Given the description of an element on the screen output the (x, y) to click on. 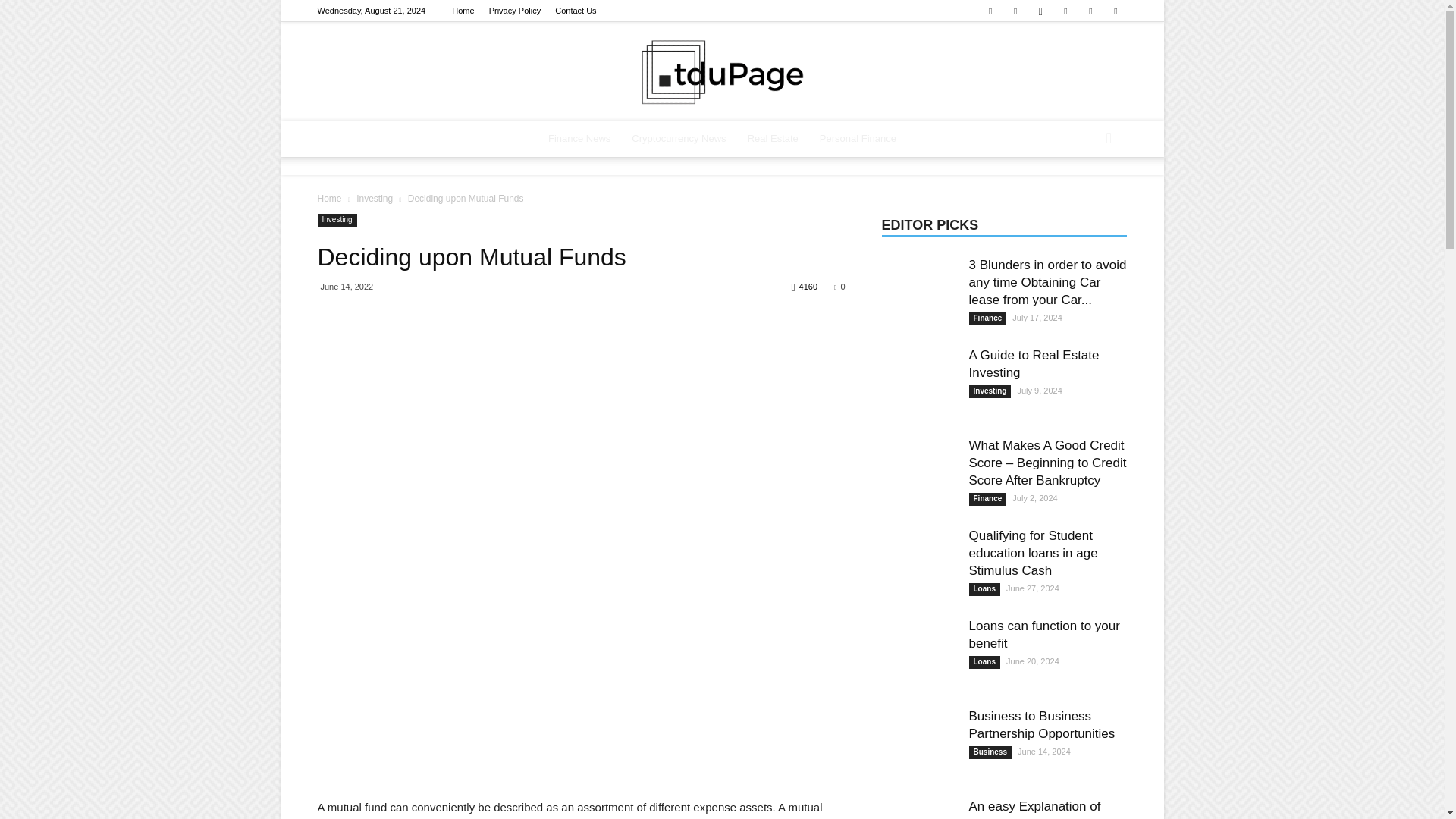
Home (462, 10)
tduPage.com (722, 71)
Real Estate (772, 138)
Privacy Policy (514, 10)
Instagram (1040, 10)
Finance News (579, 138)
Cryptocurrency News (678, 138)
VKontakte (1114, 10)
Behance (989, 10)
Twitter (1065, 10)
